Given the description of an element on the screen output the (x, y) to click on. 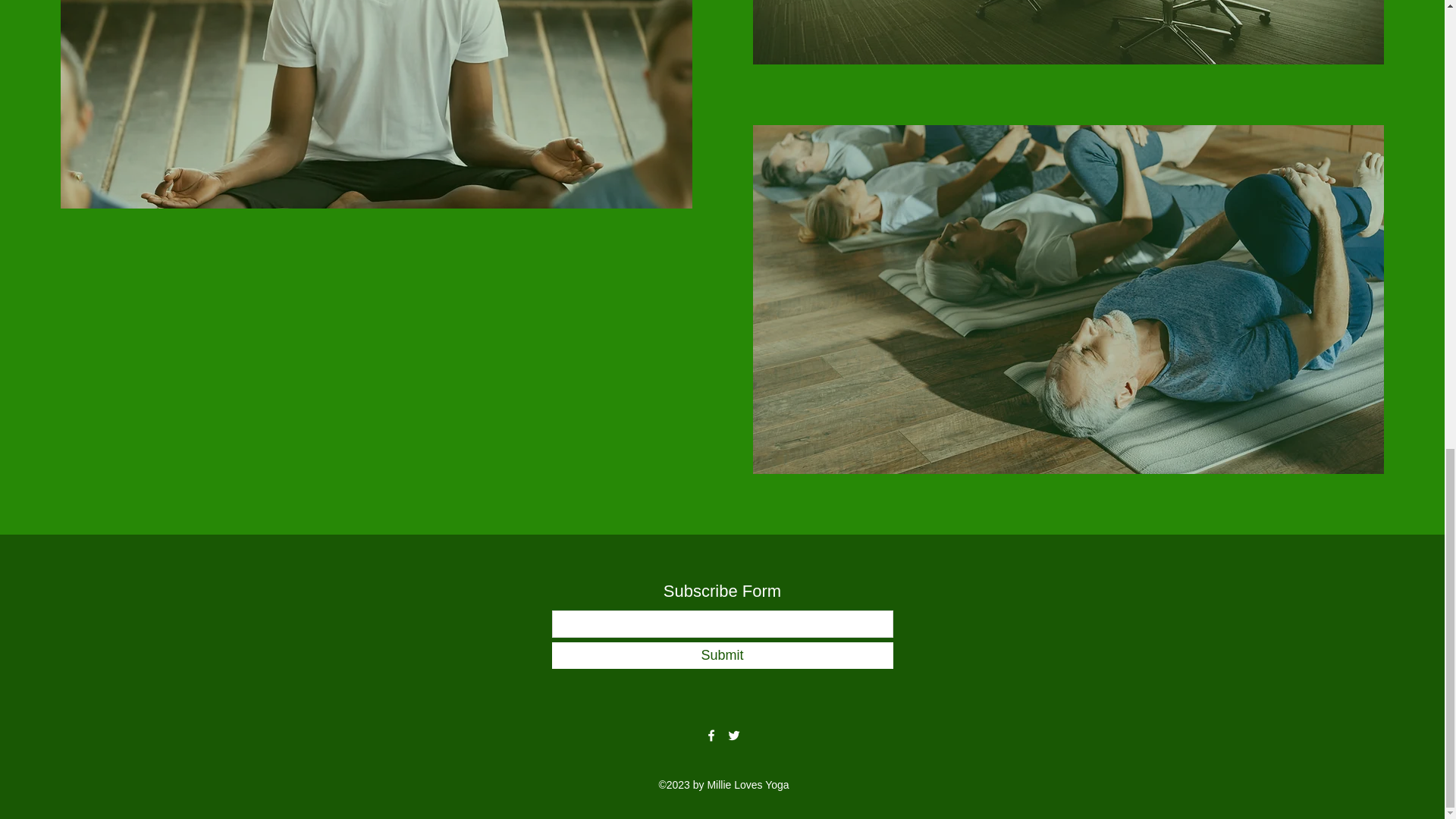
Submit (722, 655)
